Given the description of an element on the screen output the (x, y) to click on. 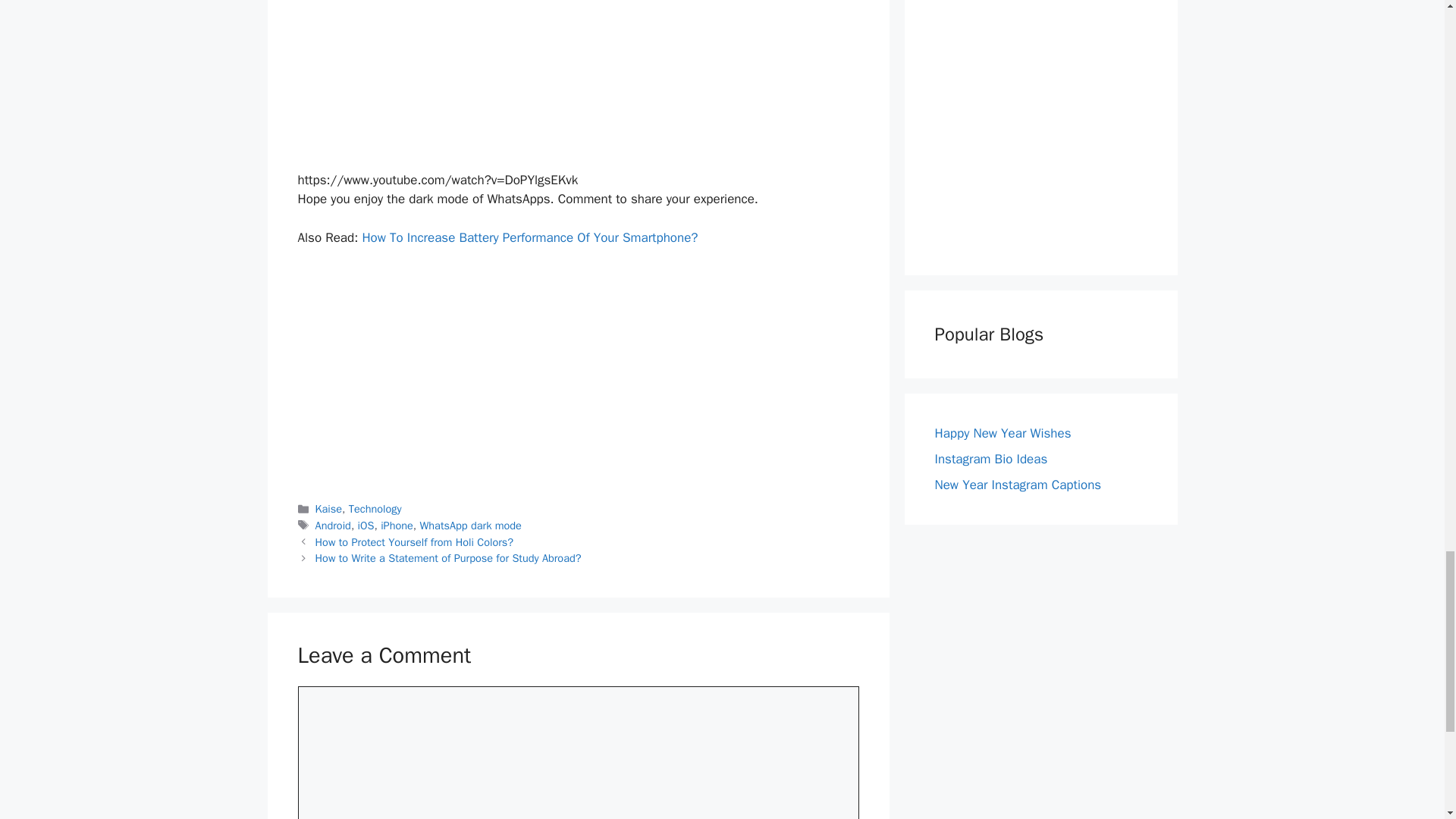
How To Increase Battery Performance Of Your Smartphone? (529, 237)
Android (332, 525)
iOS (366, 525)
Kaise (328, 508)
Technology (375, 508)
iPhone (396, 525)
